Given the description of an element on the screen output the (x, y) to click on. 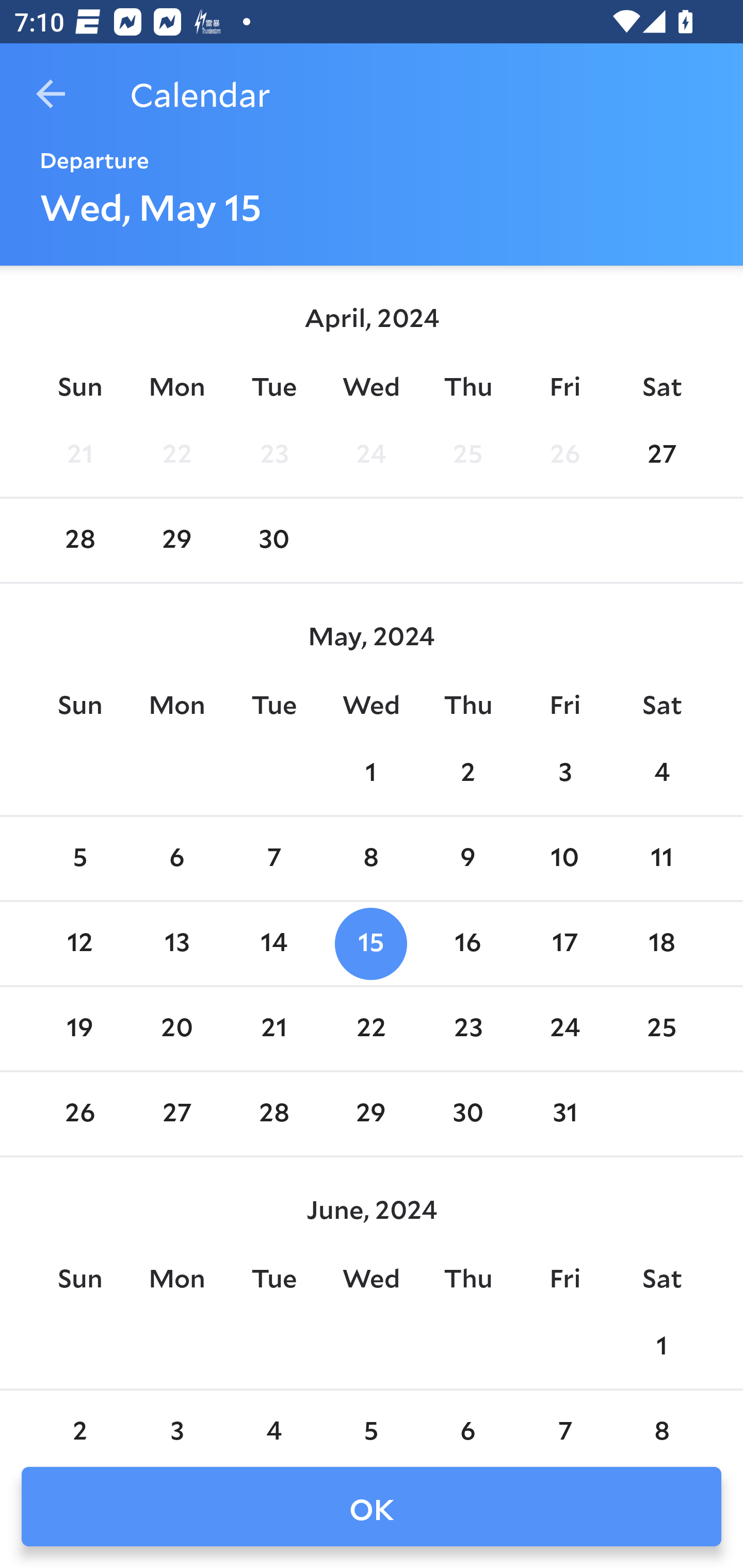
Navigate up (50, 93)
21 (79, 454)
22 (177, 454)
23 (273, 454)
24 (371, 454)
25 (467, 454)
26 (565, 454)
27 (661, 454)
28 (79, 540)
29 (177, 540)
30 (273, 540)
1 (371, 772)
2 (467, 772)
3 (565, 772)
4 (661, 772)
5 (79, 859)
6 (177, 859)
7 (273, 859)
8 (371, 859)
9 (467, 859)
10 (565, 859)
11 (661, 859)
12 (79, 943)
13 (177, 943)
14 (273, 943)
15 (371, 943)
16 (467, 943)
17 (565, 943)
18 (661, 943)
19 (79, 1028)
20 (177, 1028)
21 (273, 1028)
22 (371, 1028)
23 (467, 1028)
24 (565, 1028)
25 (661, 1028)
26 (79, 1114)
27 (177, 1114)
28 (273, 1114)
29 (371, 1114)
30 (467, 1114)
31 (565, 1114)
1 (661, 1346)
2 (79, 1420)
3 (177, 1420)
4 (273, 1420)
5 (371, 1420)
6 (467, 1420)
7 (565, 1420)
8 (661, 1420)
